Given the description of an element on the screen output the (x, y) to click on. 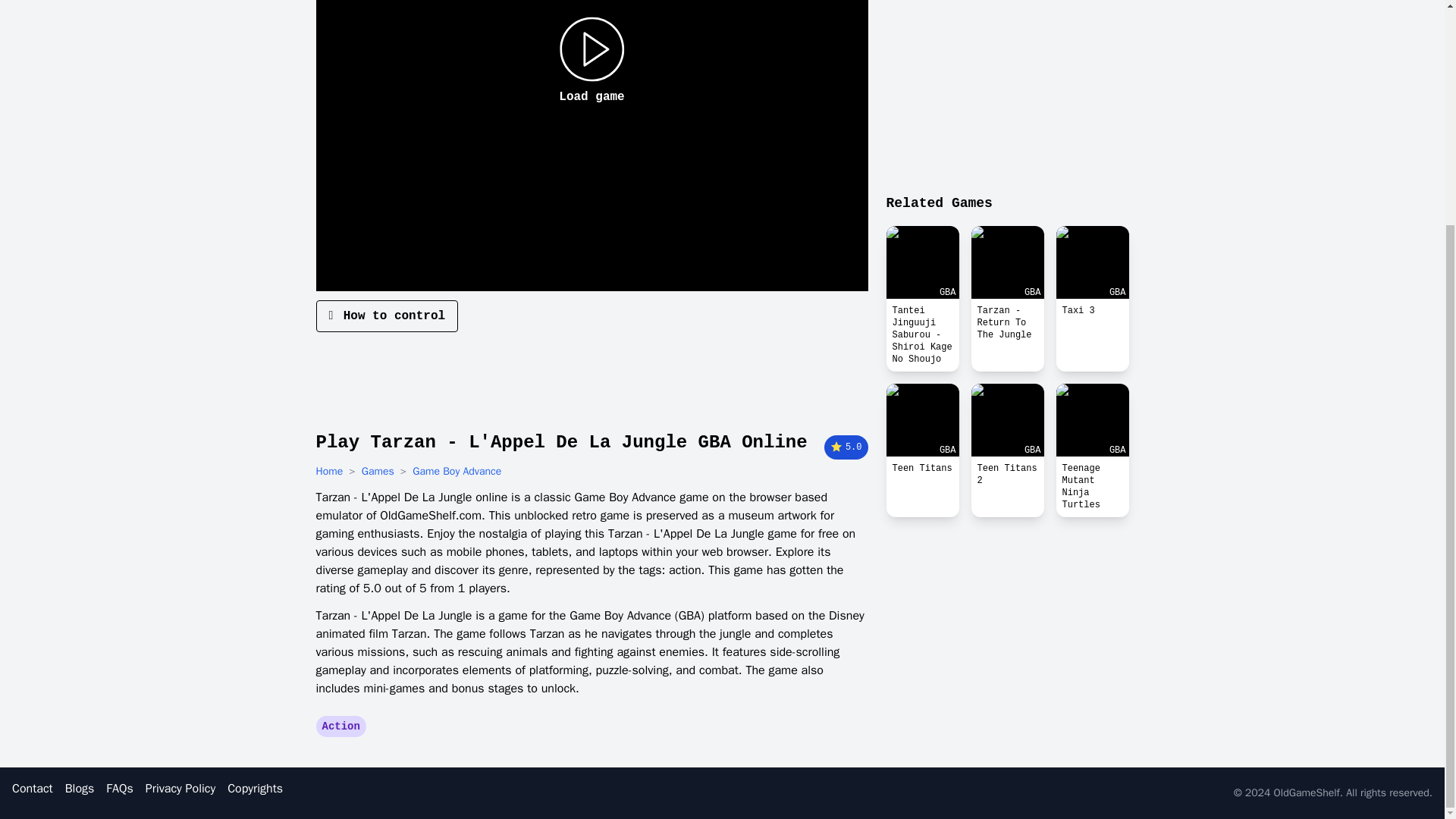
Action (340, 726)
GBA (921, 420)
Taxi 3 (1091, 310)
Privacy Policy (180, 788)
FAQs (119, 788)
GBA (1091, 262)
GBA (921, 262)
Home (328, 471)
GBA (1007, 262)
Game Boy Advance (456, 471)
Contact (31, 788)
Taxi 3 (1091, 262)
Tantei Jinguuji Saburou - Shiroi Kage No Shoujo (921, 334)
Tarzan - Return To The Jungle (1007, 322)
GBA (1091, 420)
